Given the description of an element on the screen output the (x, y) to click on. 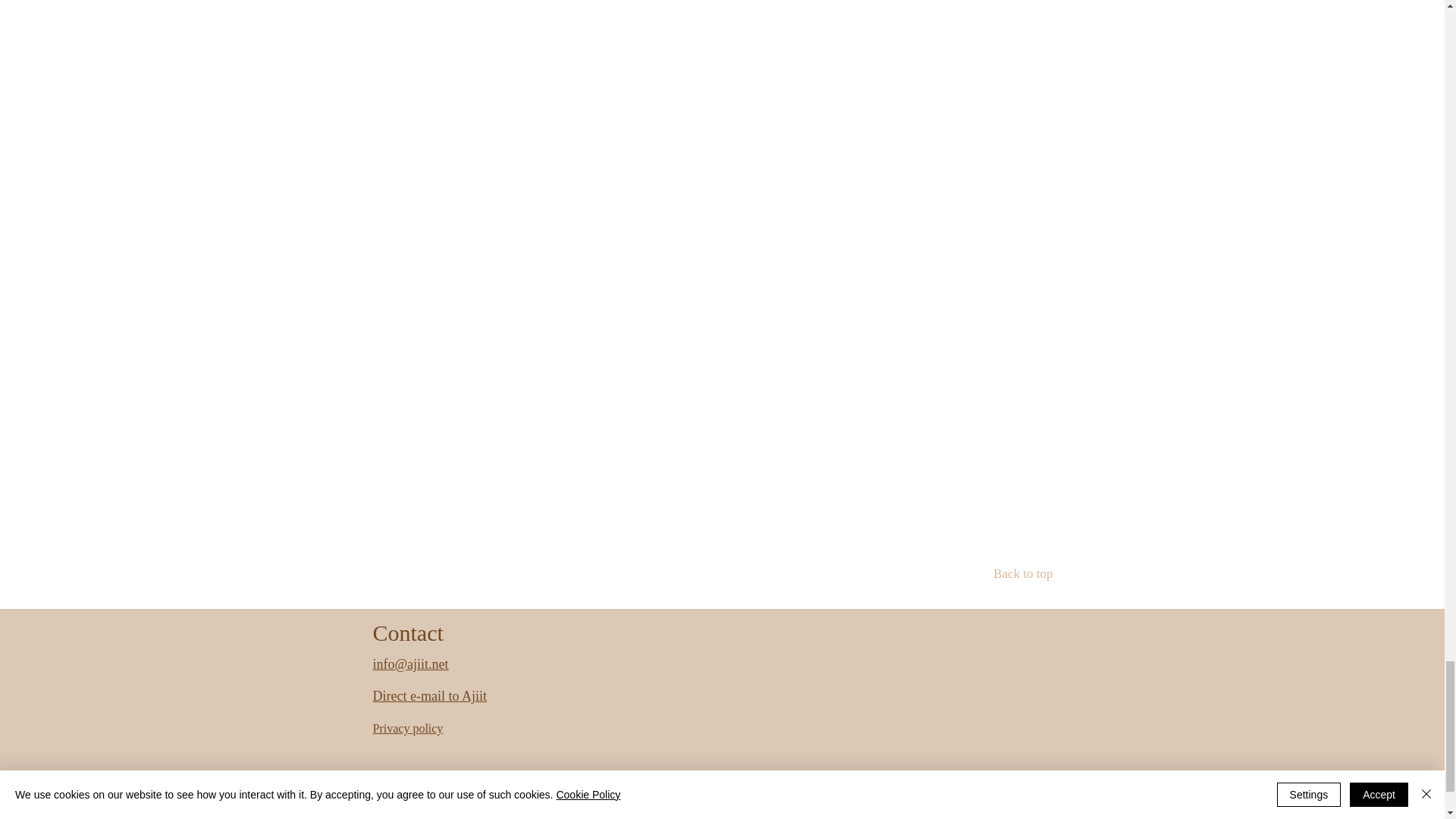
Direct e-mail to Ajiit (429, 695)
Back to top (998, 573)
Privacy policy (408, 727)
